Given the description of an element on the screen output the (x, y) to click on. 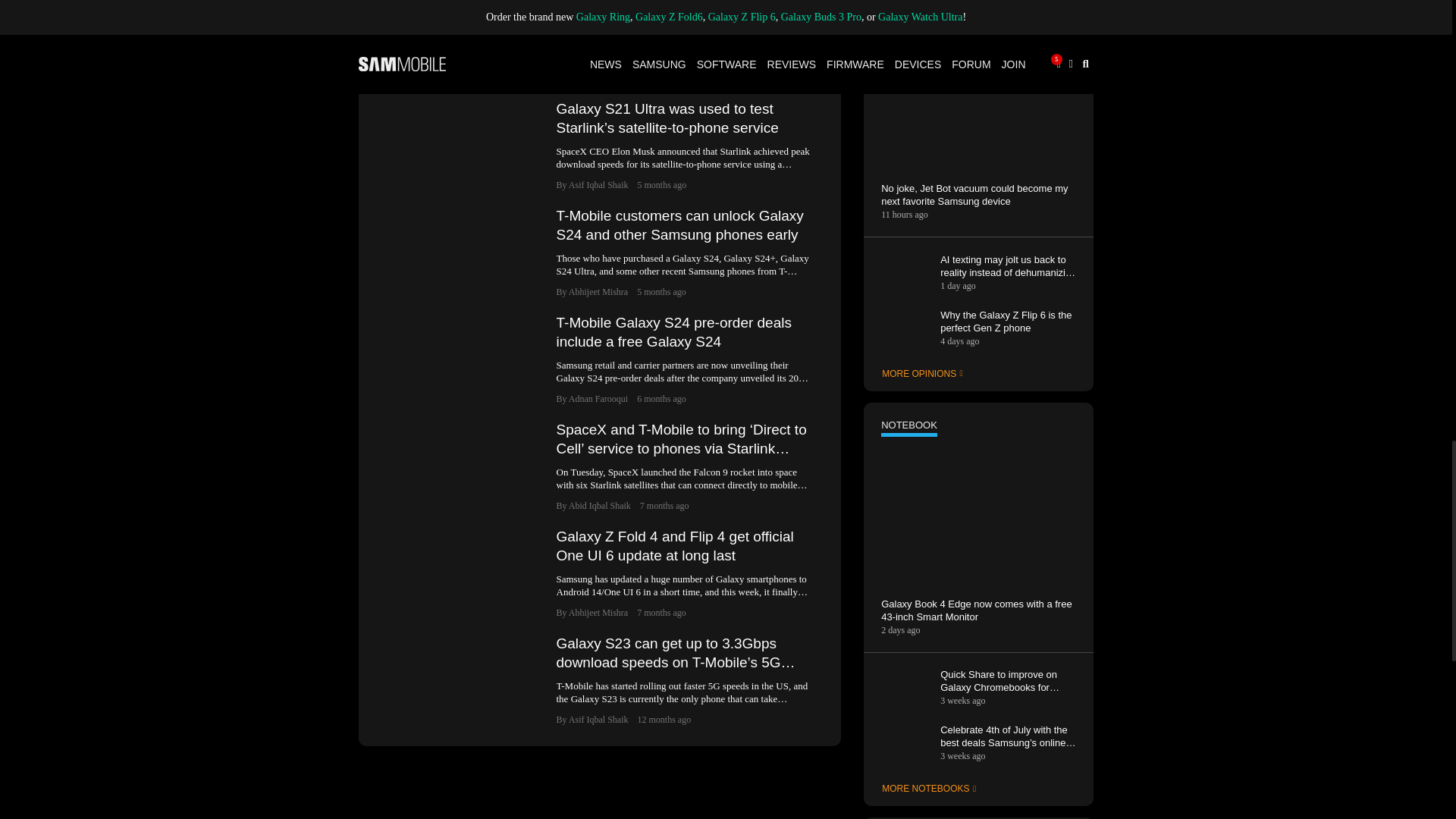
SCROLL FOR MORE RELATED CONTENT (599, 4)
